Given the description of an element on the screen output the (x, y) to click on. 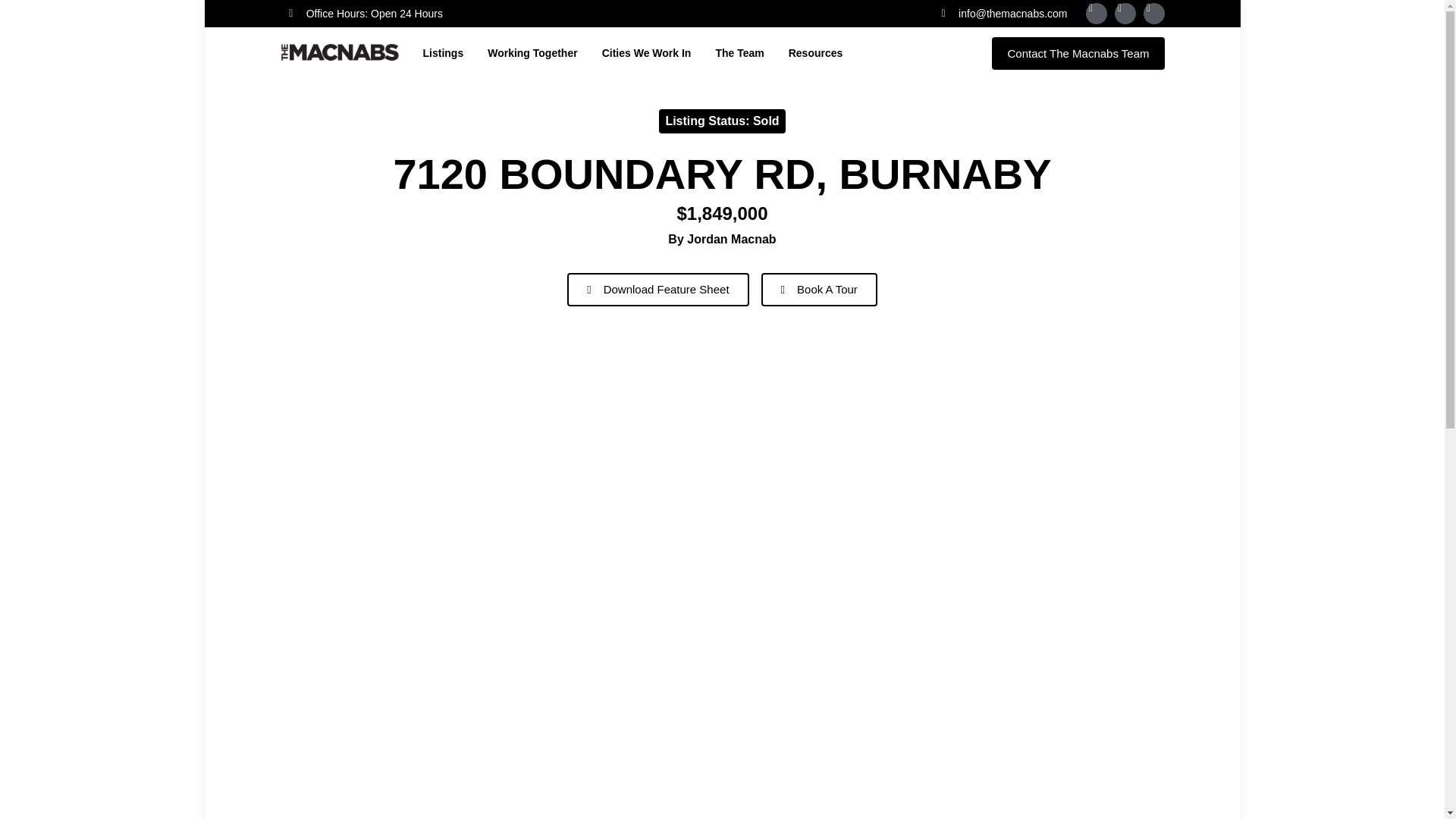
Cities We Work In (646, 52)
Working Together (531, 52)
Listings (443, 52)
